Given the description of an element on the screen output the (x, y) to click on. 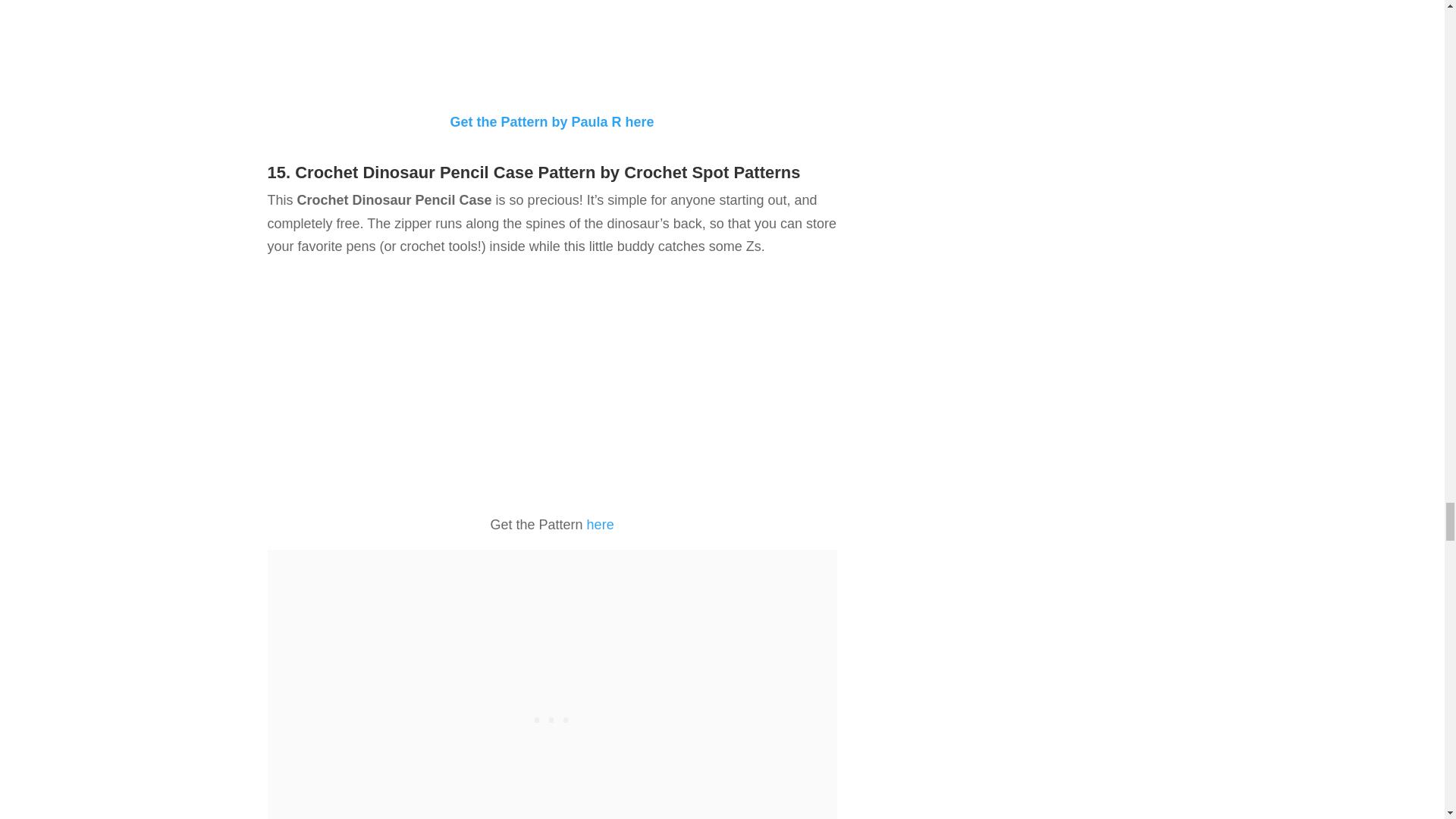
21 Fun Back to School Crochet Pencil Case Patterns (551, 48)
Get the Pattern by Paula R here (551, 121)
